Given the description of an element on the screen output the (x, y) to click on. 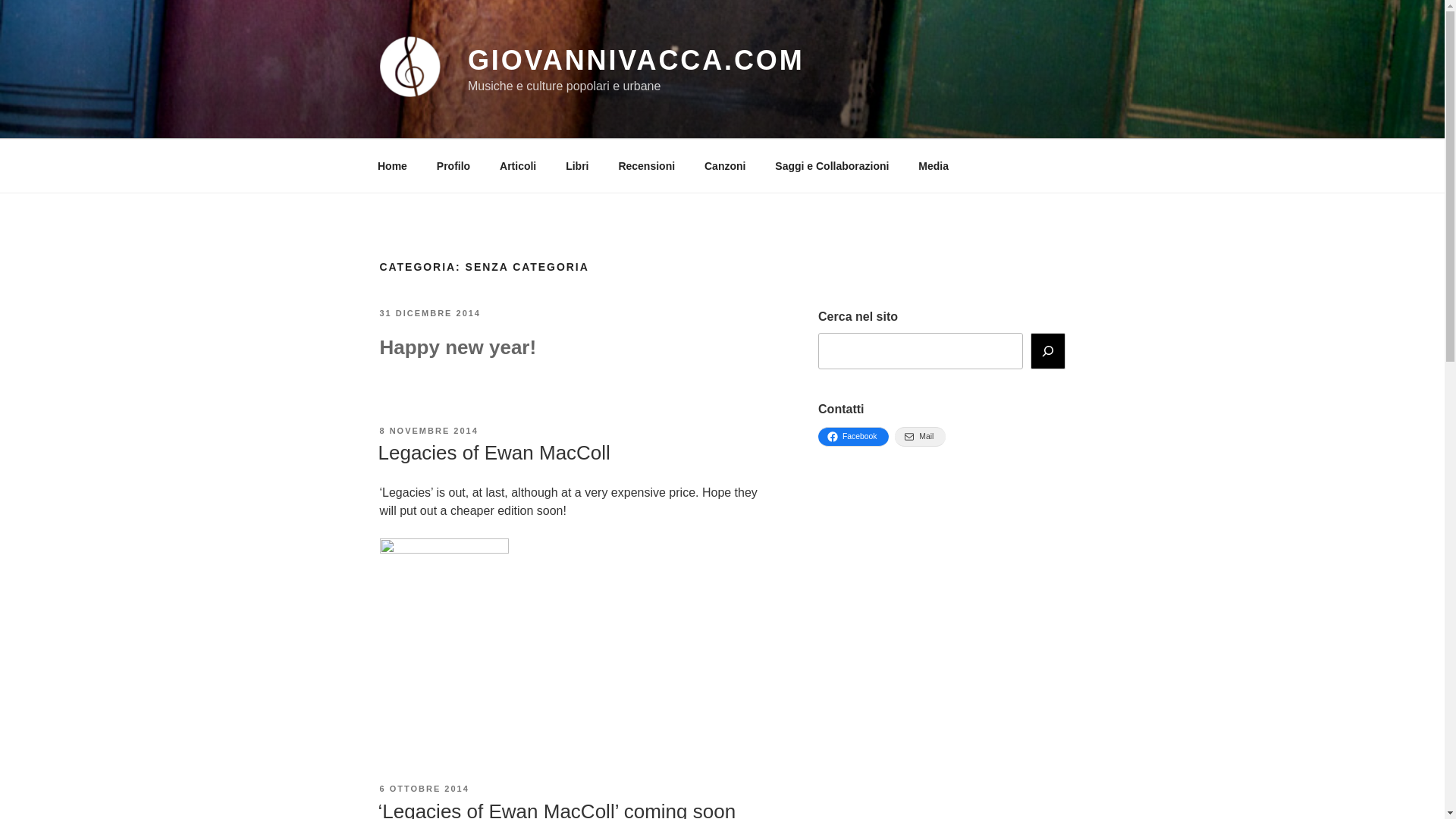
Home (392, 165)
Saggi e Collaborazioni (831, 165)
Articoli (518, 165)
6 OTTOBRE 2014 (423, 788)
GIOVANNIVACCA.COM (636, 60)
Facebook (853, 436)
8 NOVEMBRE 2014 (427, 429)
Mail (919, 436)
Profilo (453, 165)
Libri (577, 165)
Canzoni (724, 165)
Recensioni (646, 165)
31 DICEMBRE 2014 (429, 312)
Media (933, 165)
Legacies of Ewan MacColl (493, 452)
